Given the description of an element on the screen output the (x, y) to click on. 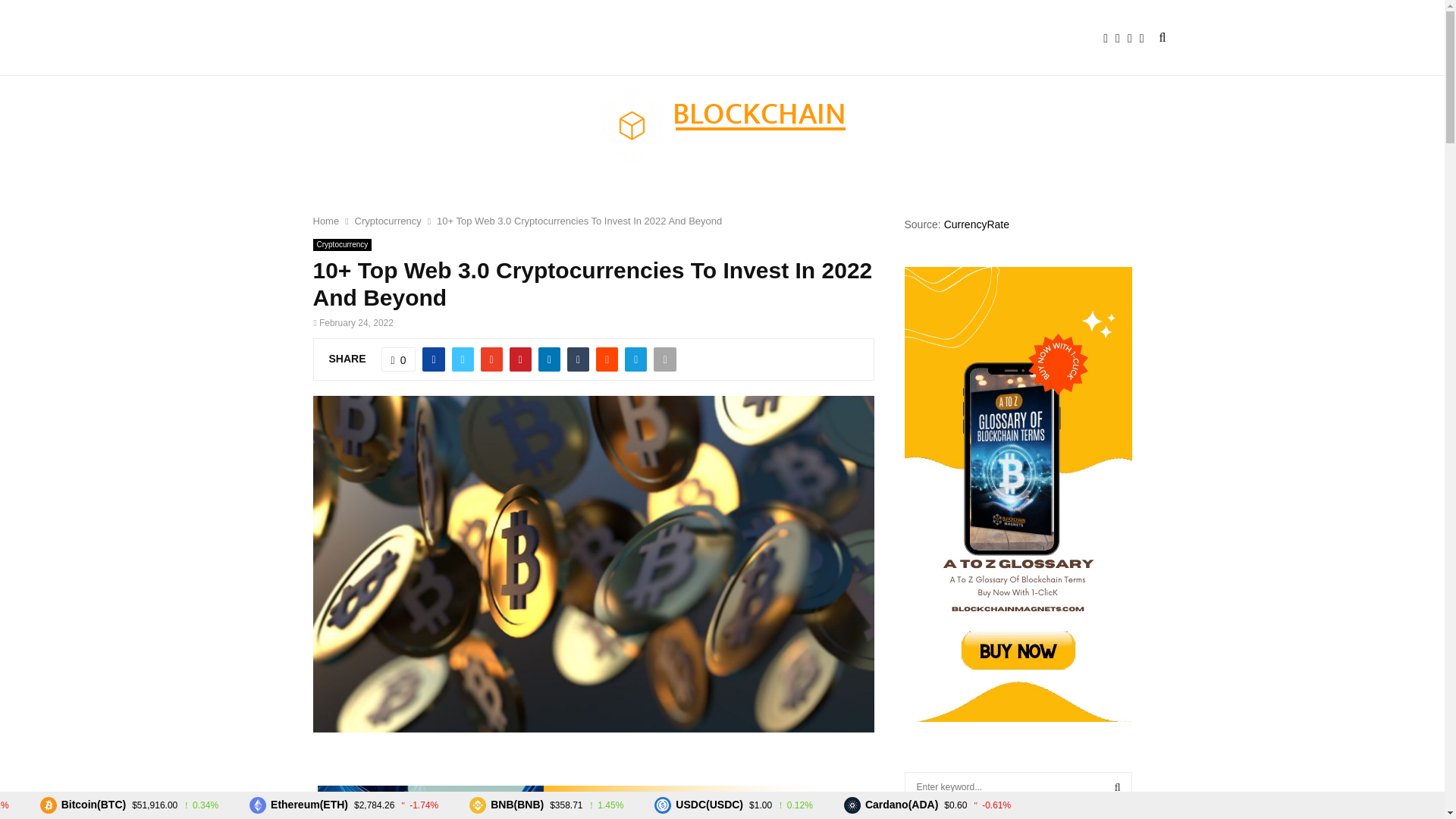
HOME (308, 38)
BLOCKCHAIN (391, 38)
Instagram (1133, 38)
Twitter (1120, 38)
BITCOIN (627, 38)
Facebook (1109, 38)
FOREX (560, 38)
FINTECH (486, 38)
BUSINESS (708, 38)
